Given the description of an element on the screen output the (x, y) to click on. 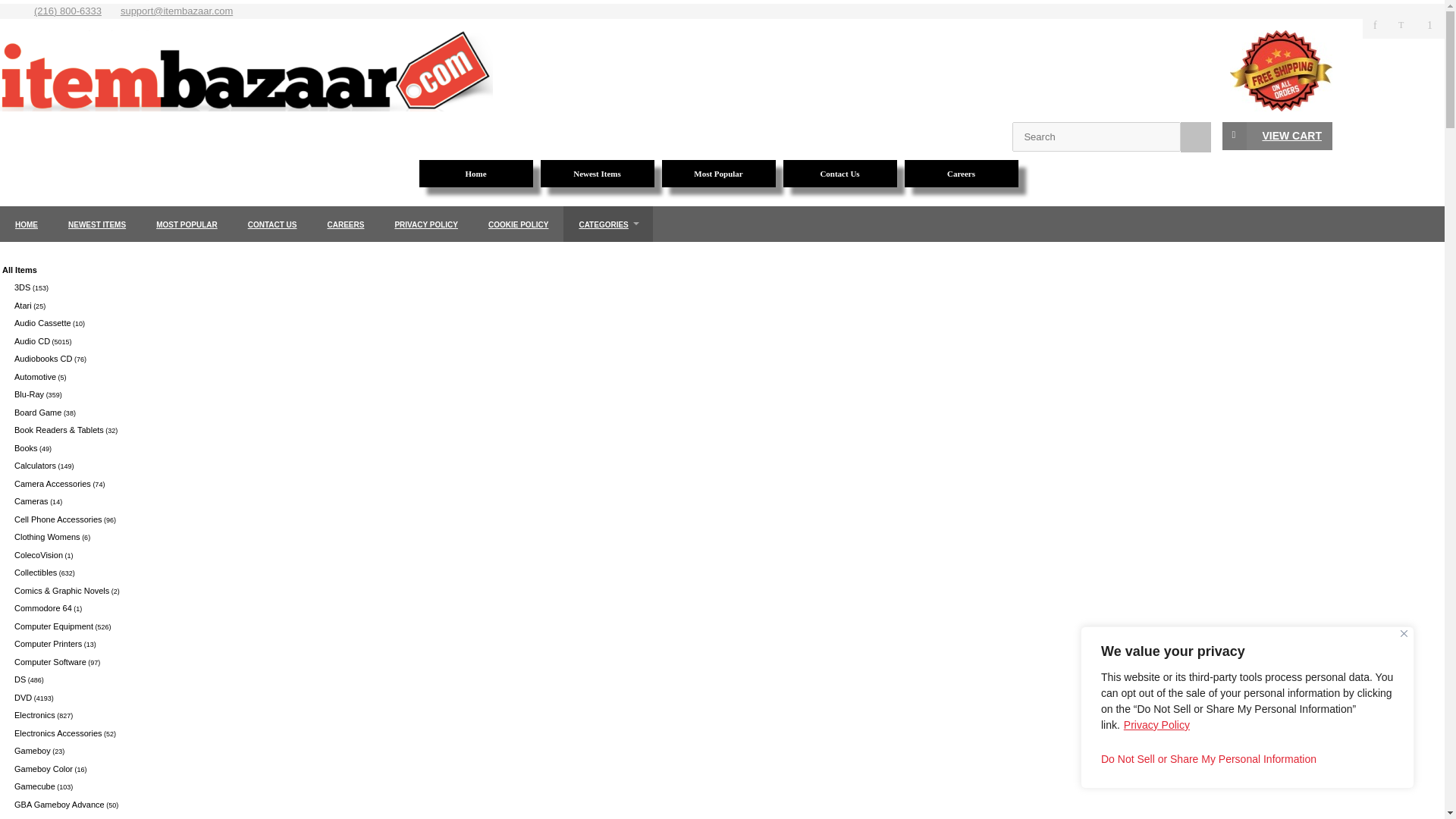
Newest Items (600, 172)
Most Popular (722, 172)
Contact Us (843, 172)
MOST POPULAR (186, 223)
COOKIE POLICY (518, 223)
Do Not Sell or Share My Personal Information (1246, 759)
CATEGORIES (607, 223)
PRIVACY POLICY (425, 223)
Privacy Policy (1156, 725)
CAREERS (346, 223)
NEWEST ITEMS (96, 223)
HOME (26, 223)
VIEW CART (1277, 135)
Careers (964, 172)
CONTACT US (272, 223)
